Given the description of an element on the screen output the (x, y) to click on. 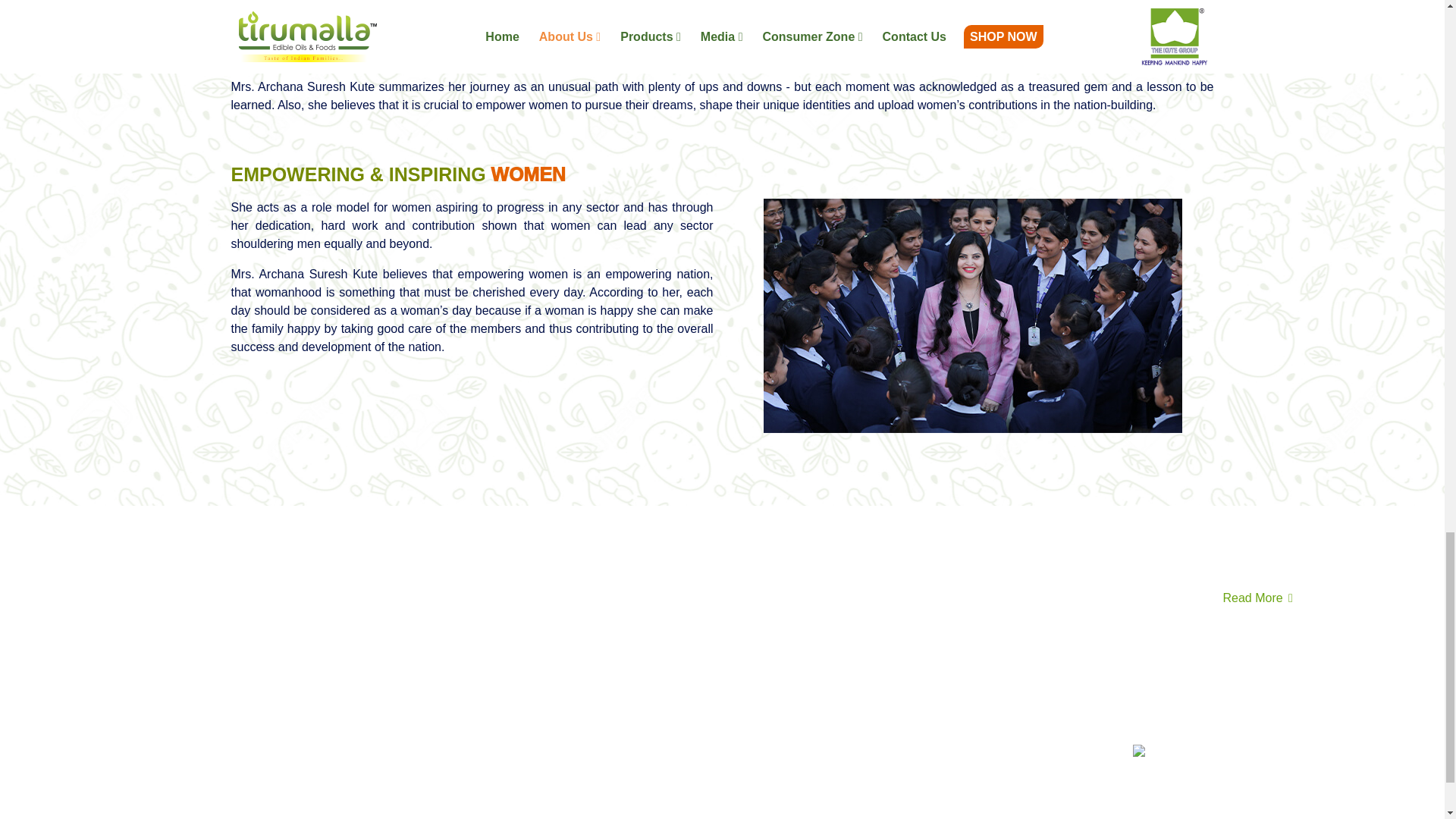
Privacy Policy (1229, 550)
Read More (1258, 597)
02442 - 226886 (542, 776)
Sunflower Oil (942, 719)
CSR Policies (1317, 550)
Ricebran Oil (939, 697)
